Given the description of an element on the screen output the (x, y) to click on. 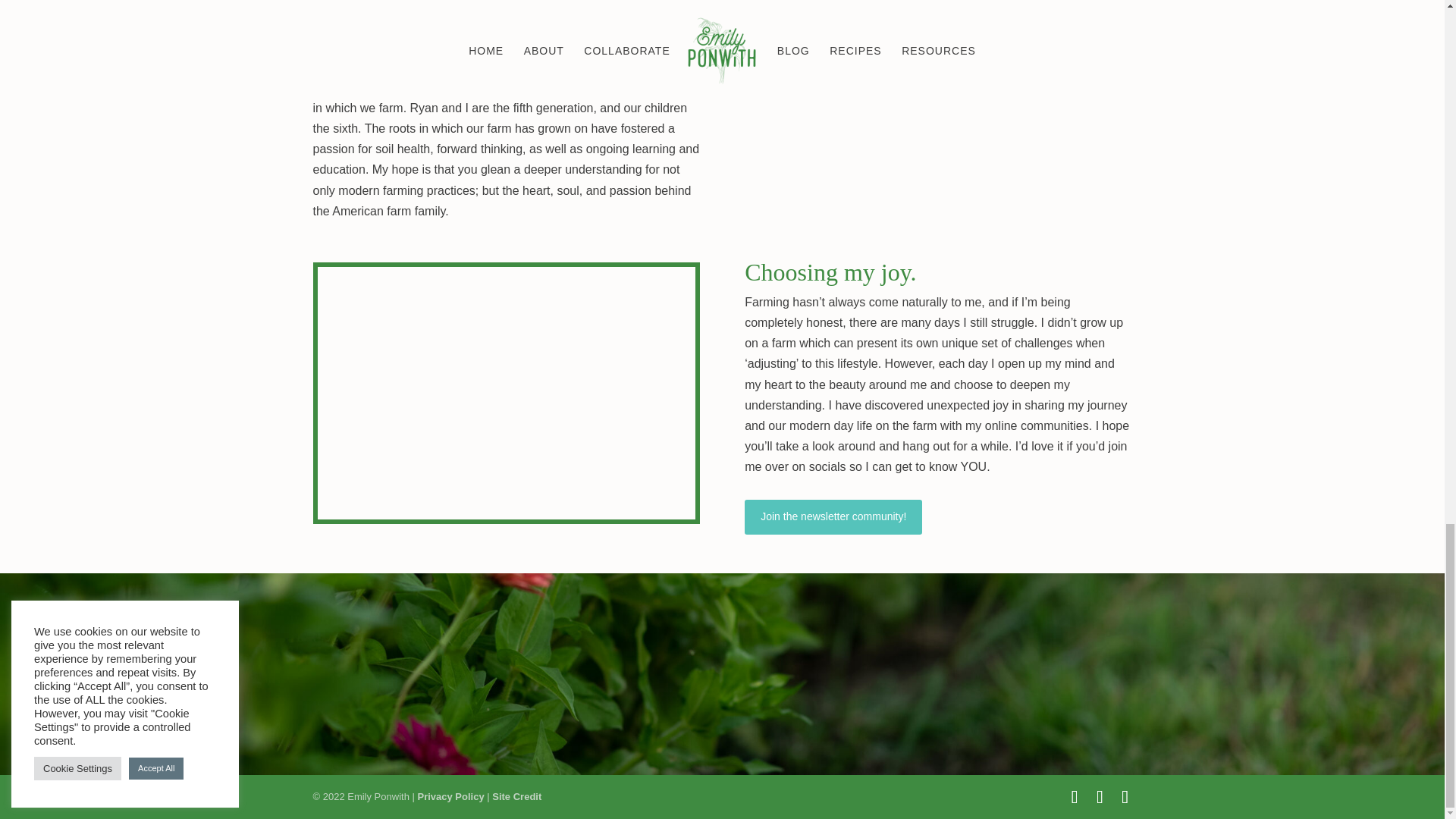
Privacy Policy (449, 796)
Join the newsletter community! (832, 516)
Site Credit (516, 796)
